Given the description of an element on the screen output the (x, y) to click on. 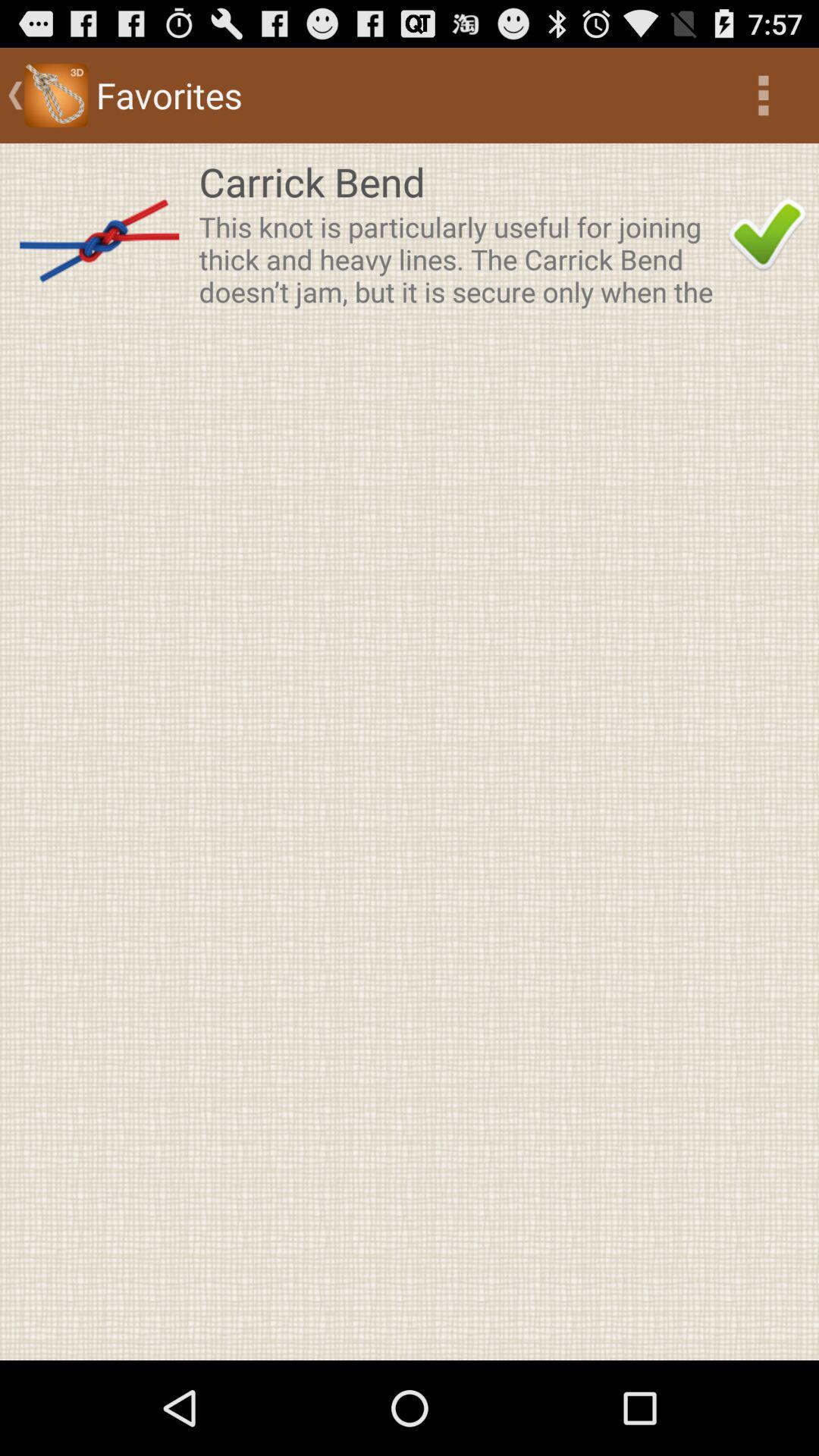
select the app below the carrick bend icon (459, 258)
